Given the description of an element on the screen output the (x, y) to click on. 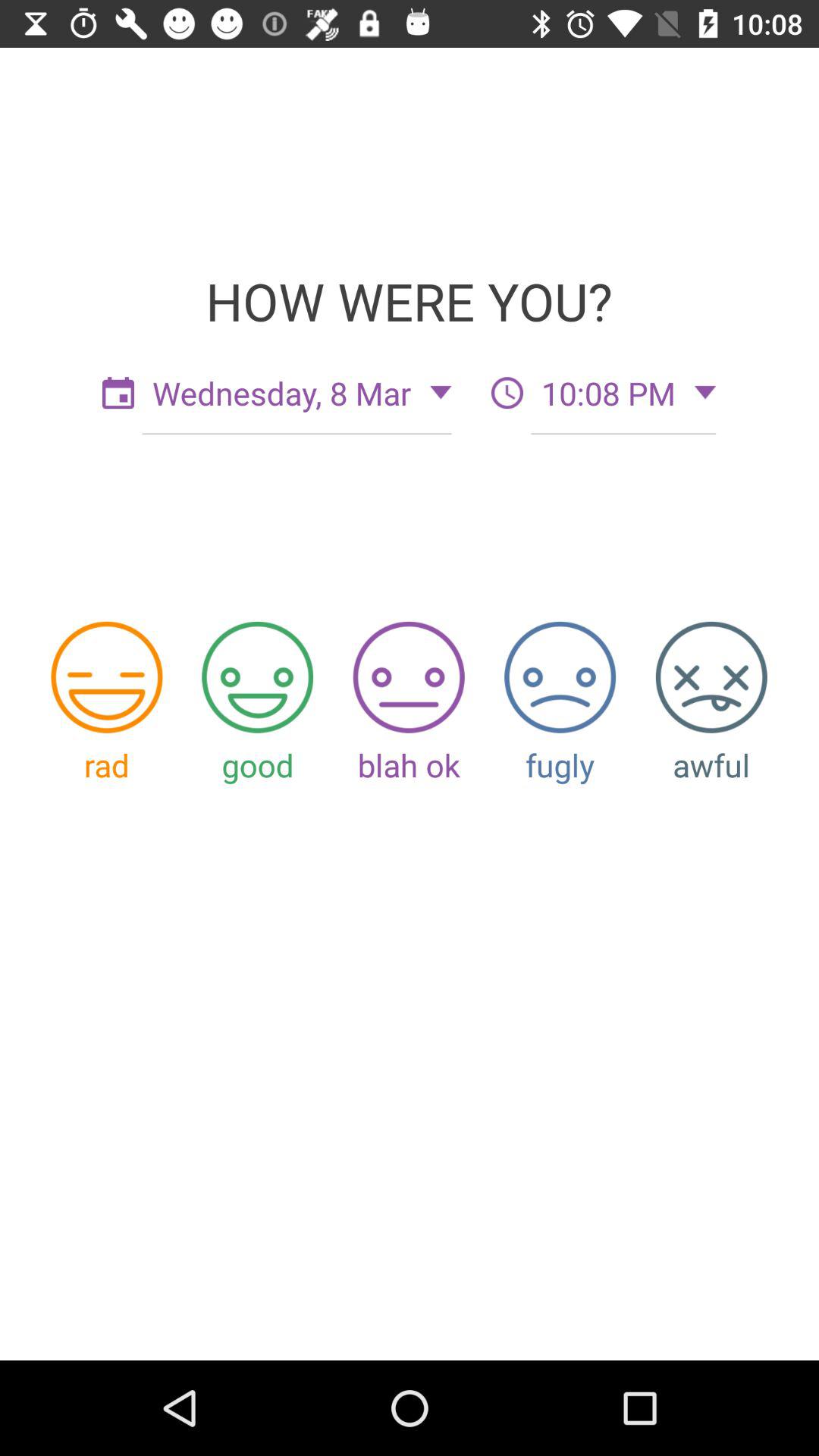
the button is used to calender (118, 392)
